Given the description of an element on the screen output the (x, y) to click on. 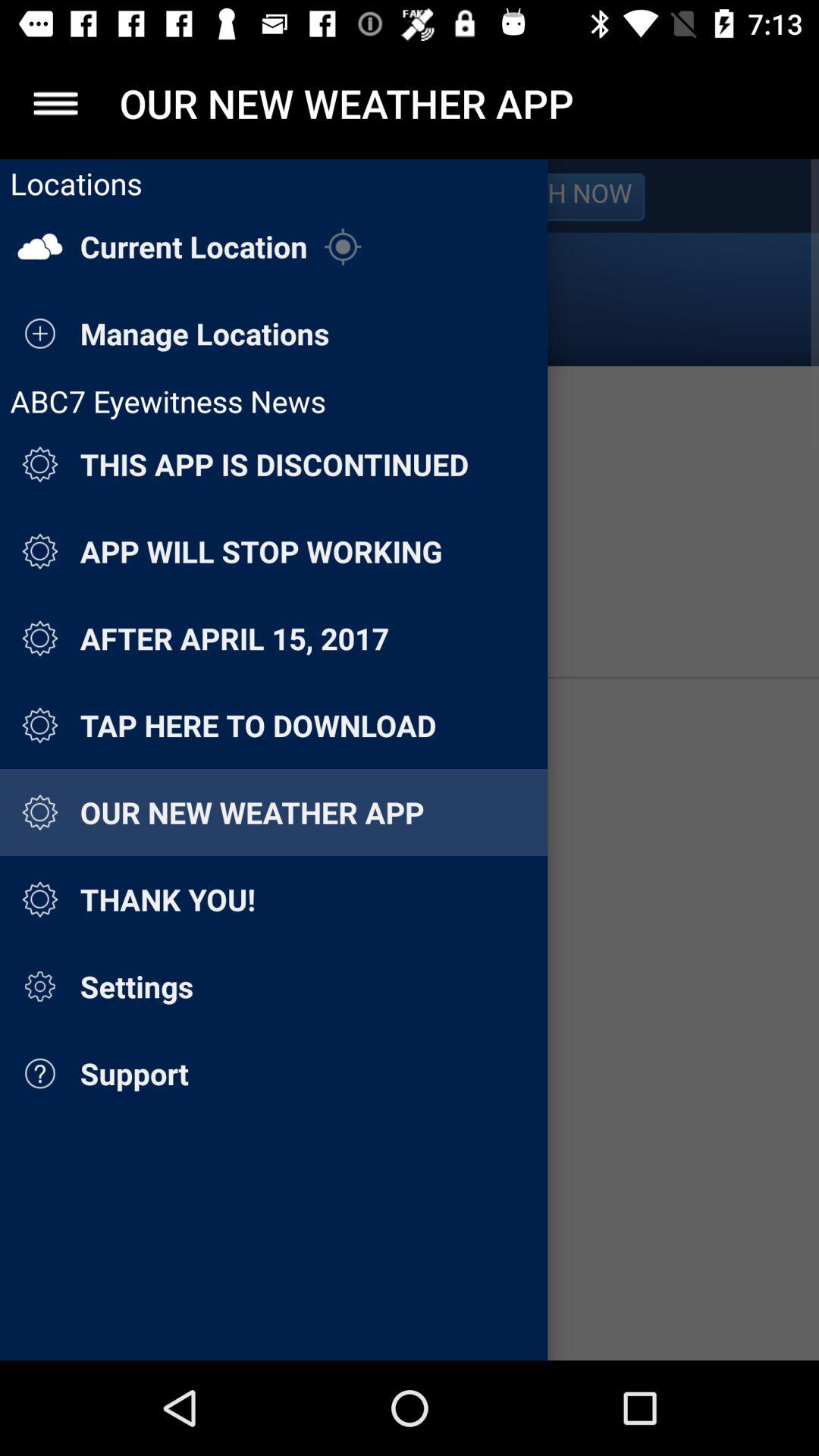
select the item to the left of our new weather item (55, 103)
